Given the description of an element on the screen output the (x, y) to click on. 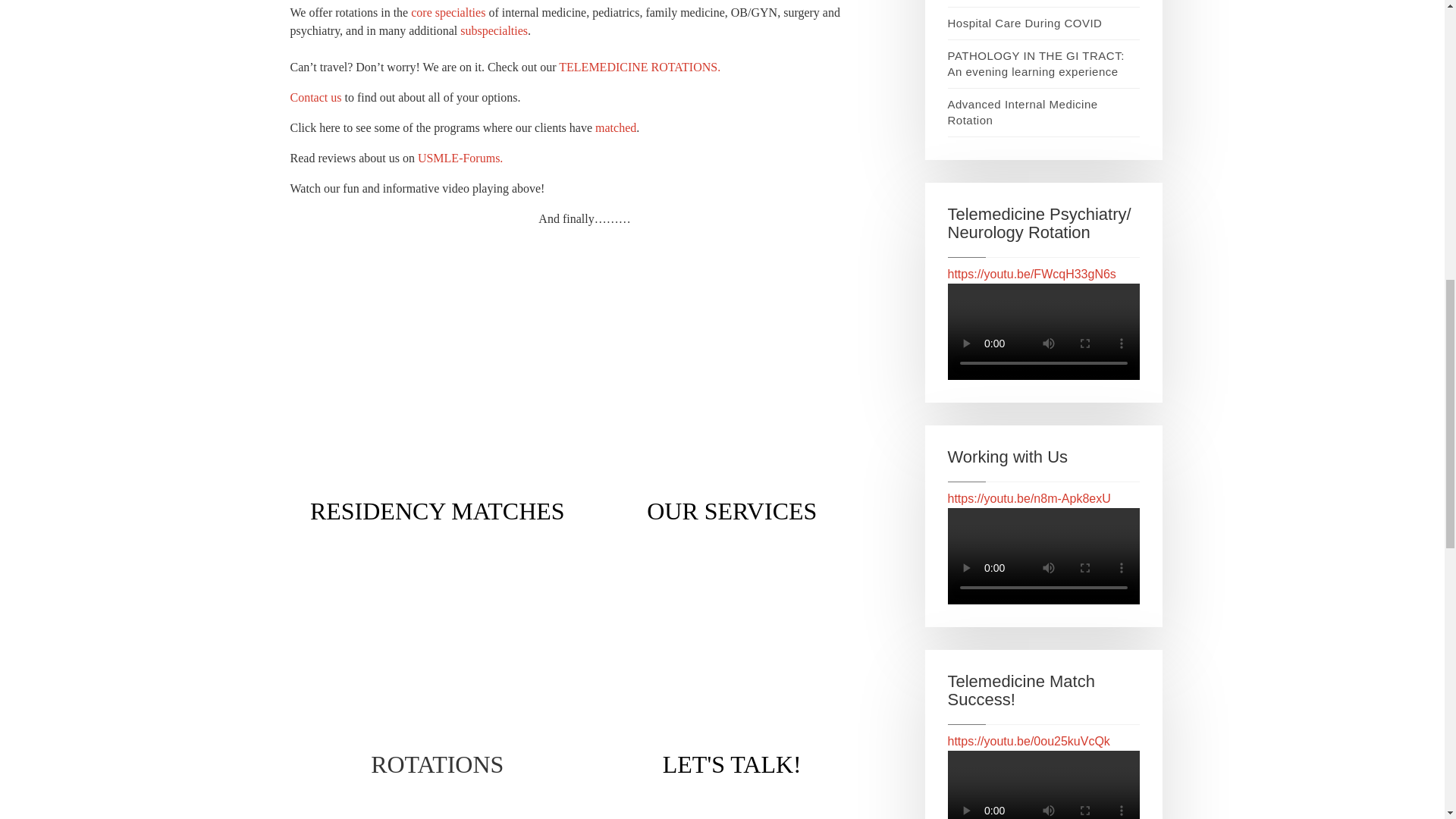
matched (615, 127)
Contact us (314, 97)
TELEMEDICINE ROTATIONS. (639, 66)
core specialties (447, 11)
USMLE-Forums. (459, 157)
subspecialties (493, 30)
